Given the description of an element on the screen output the (x, y) to click on. 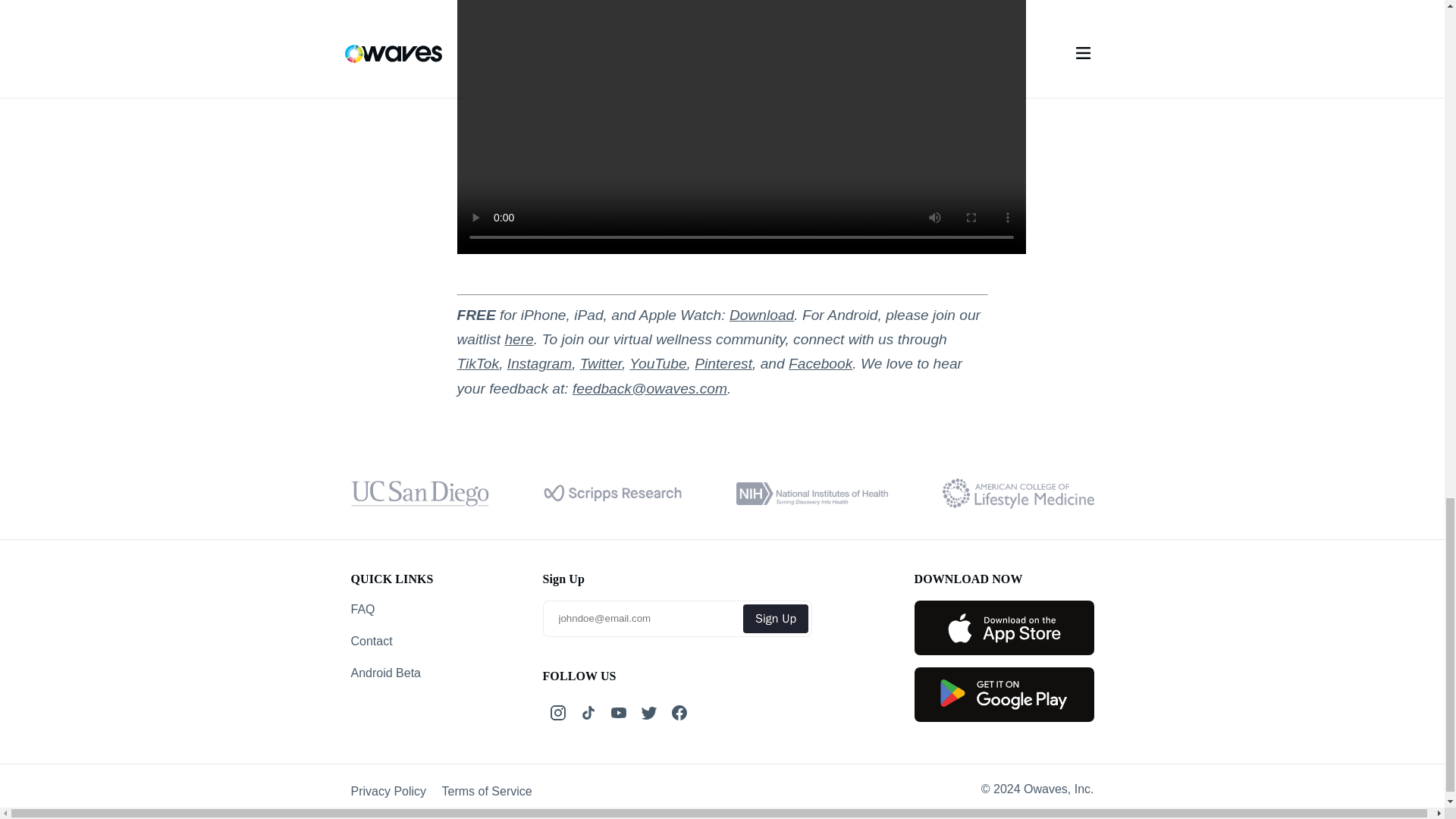
Facebook (820, 363)
Download (761, 314)
TikTok (478, 363)
Contact (388, 641)
Instagram (539, 363)
here (517, 339)
FAQ (388, 609)
Android Beta (388, 673)
Twitter (600, 363)
Sign Up (775, 618)
Privacy Policy (388, 790)
Pinterest (723, 363)
Terms of Service (487, 790)
YouTube (656, 363)
